Given the description of an element on the screen output the (x, y) to click on. 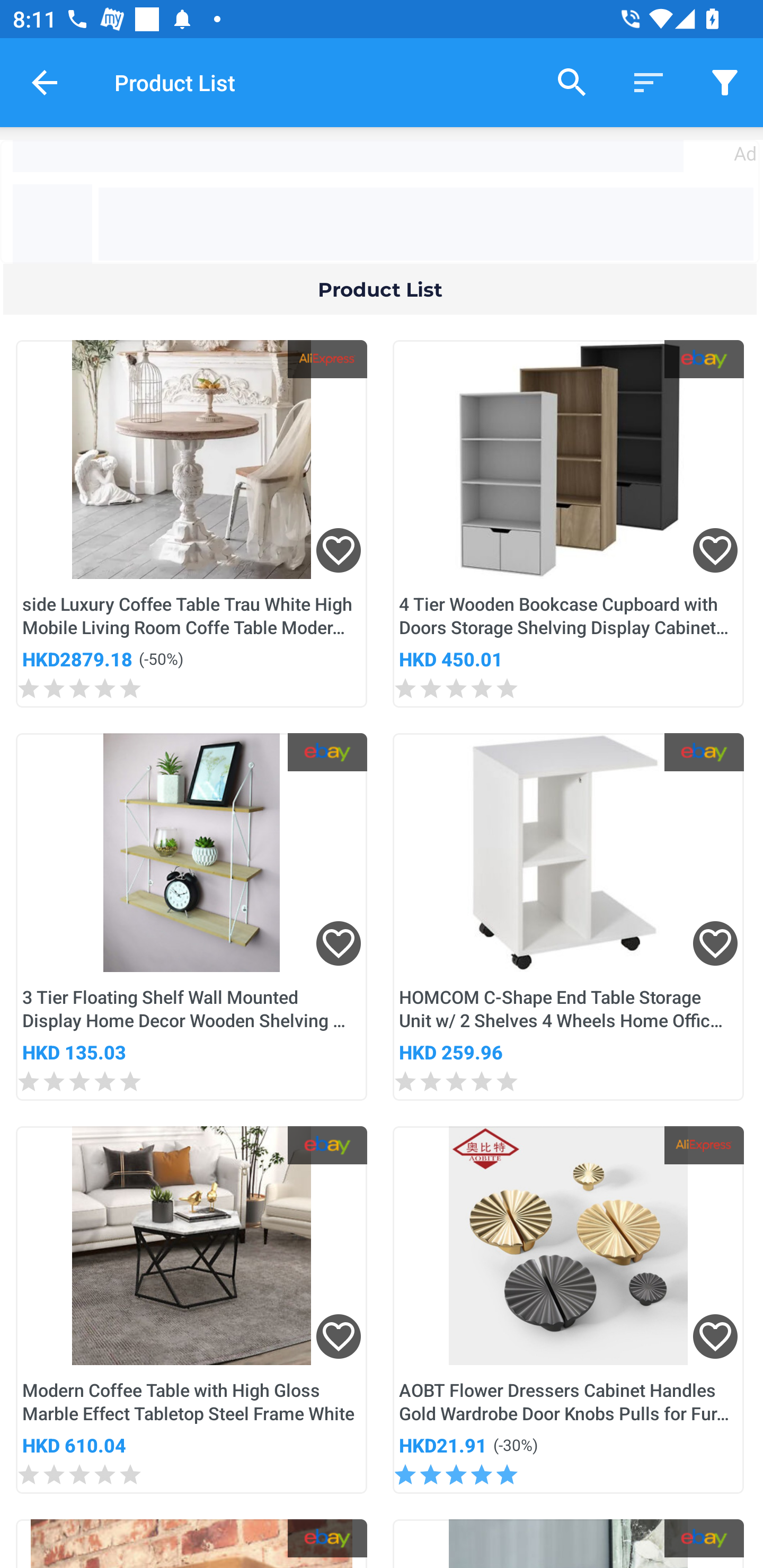
Navigate up (44, 82)
Search (572, 81)
short (648, 81)
short (724, 81)
